Given the description of an element on the screen output the (x, y) to click on. 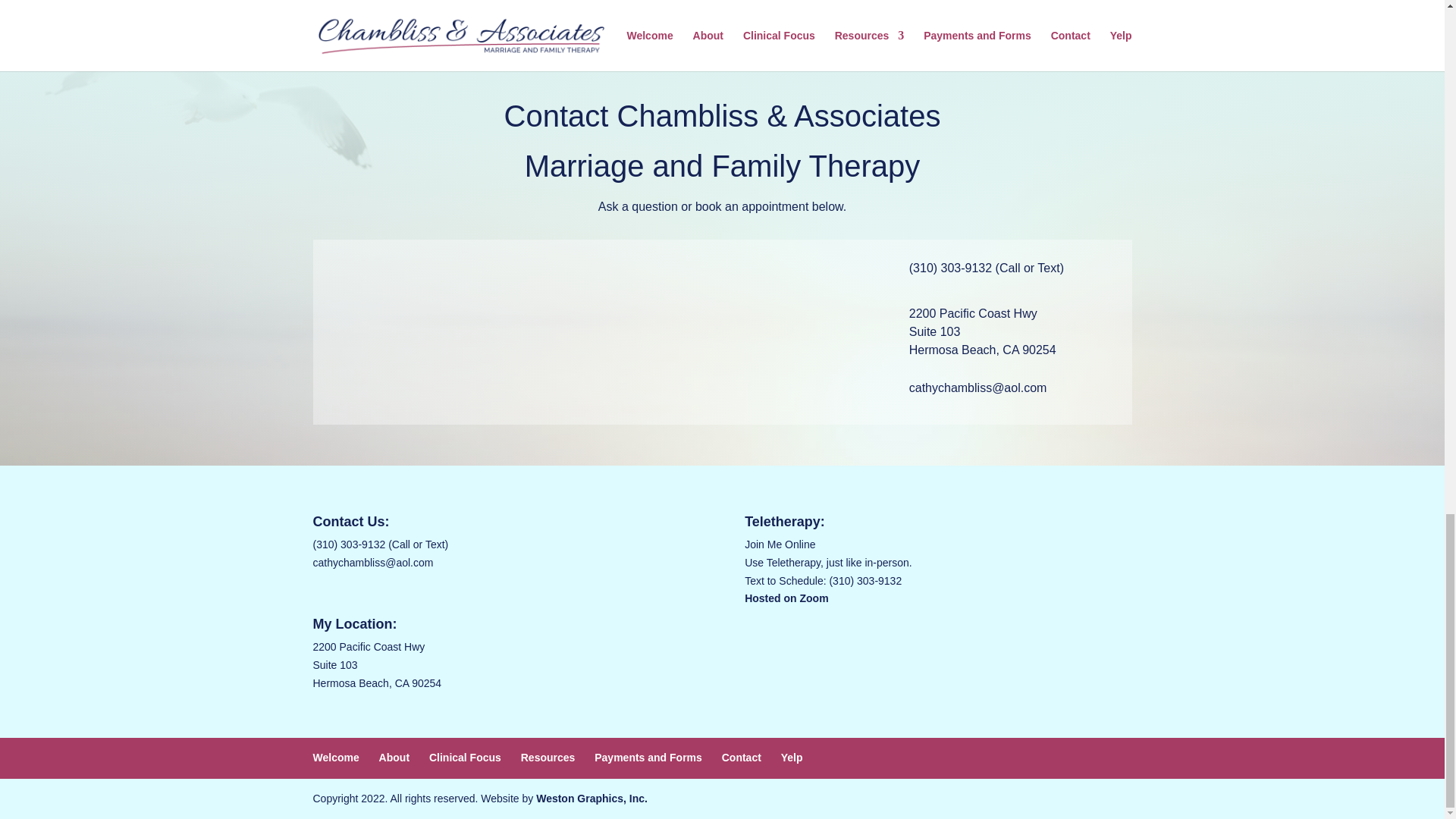
Payments and Forms (647, 757)
Hosted on Zoom (786, 598)
Contact (741, 757)
About (393, 757)
Clinical Focus (464, 757)
Weston Graphics, Inc. (591, 798)
Welcome (335, 757)
Yelp (791, 757)
Resources (548, 757)
